Given the description of an element on the screen output the (x, y) to click on. 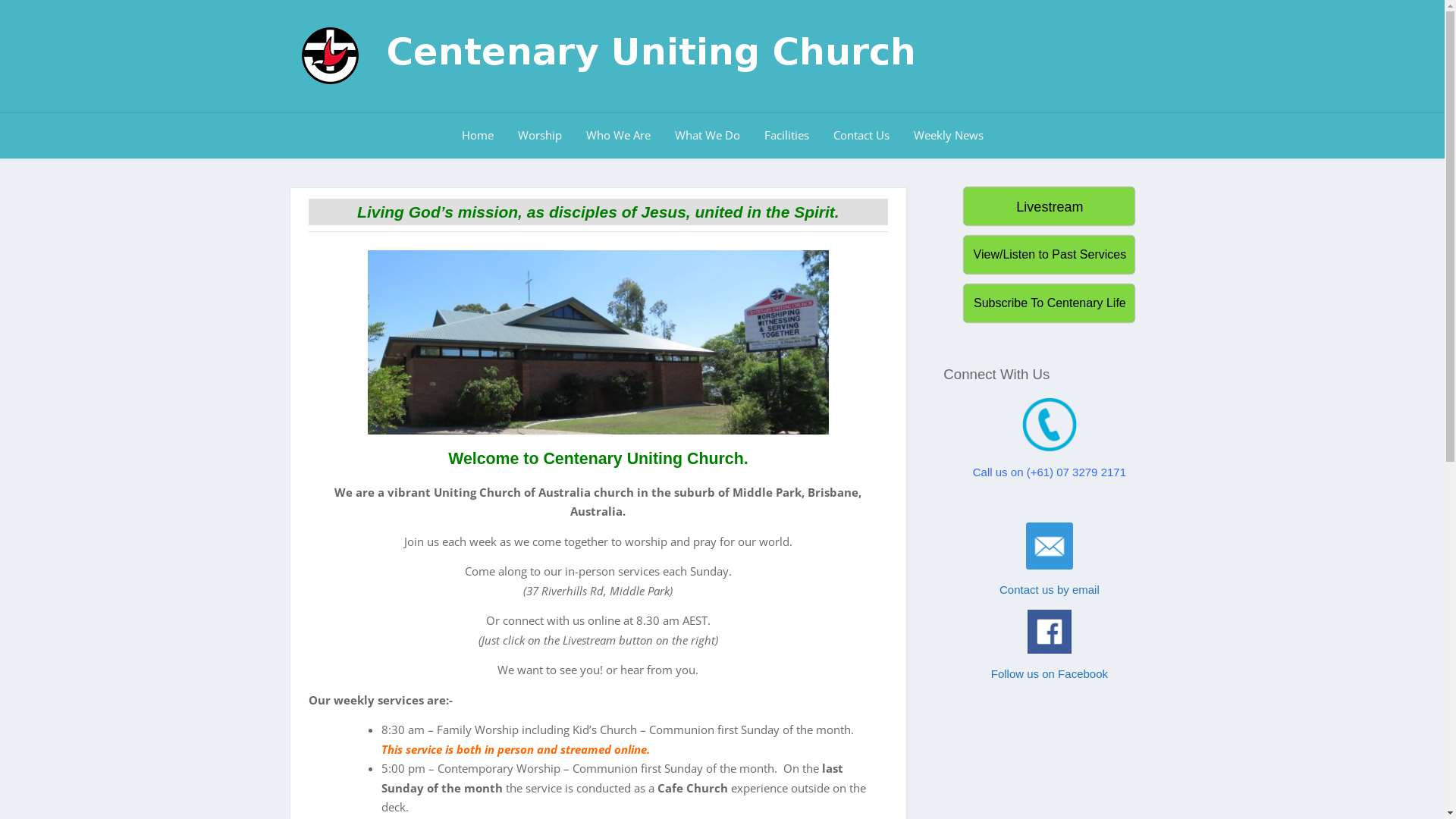
Livestream Element type: text (1048, 205)
Contact Us Element type: text (860, 135)
Worship Element type: text (538, 135)
Subscribe To Centenary Life Element type: text (1048, 302)
Weekly News Element type: text (947, 135)
Home Element type: text (476, 135)
What We Do Element type: text (707, 135)
Facilities Element type: text (786, 135)
Follow us on Facebook Element type: text (1049, 673)
Contact us by email Element type: text (1049, 589)
Who We Are Element type: text (617, 135)
Skip to content Element type: text (0, 0)
View/Listen to Past Services Element type: text (1048, 254)
